Given the description of an element on the screen output the (x, y) to click on. 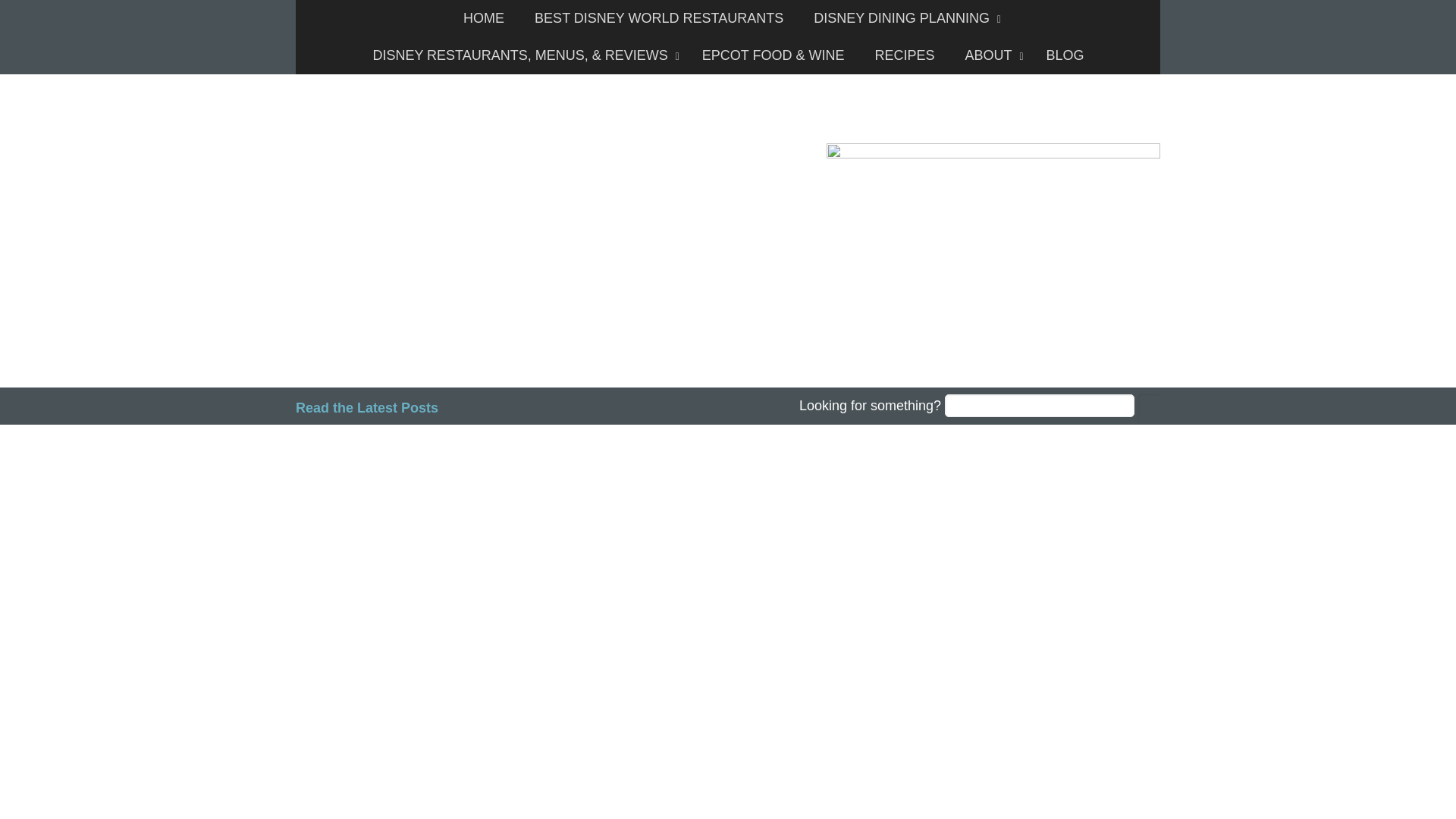
DISNEY DINING PLANNING (903, 18)
BEST DISNEY WORLD RESTAURANTS (658, 18)
HOME (483, 18)
